Given the description of an element on the screen output the (x, y) to click on. 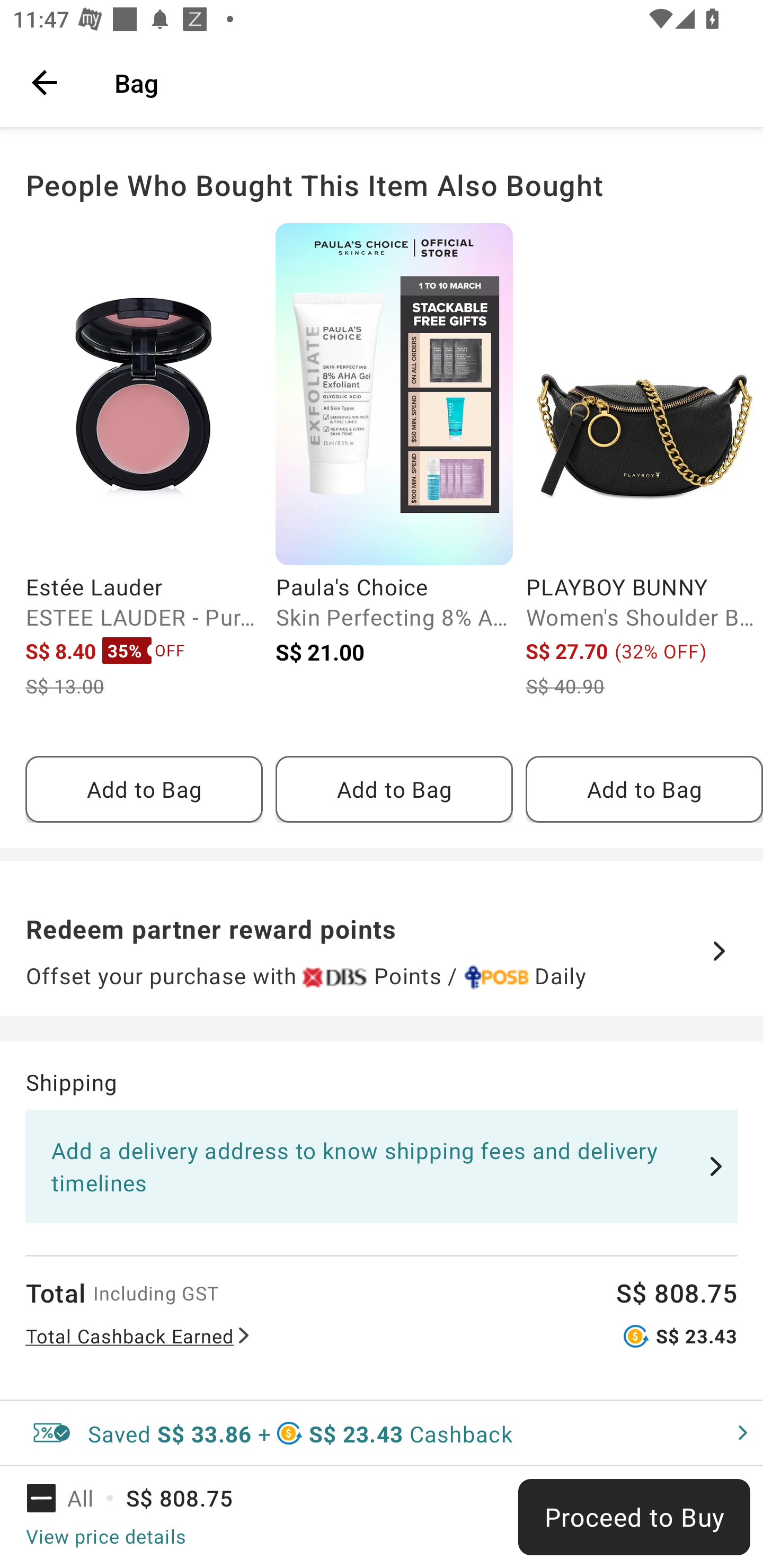
Navigate up (44, 82)
Bag (426, 82)
Add to Bag (143, 789)
Add to Bag (393, 789)
Add to Bag (644, 789)
Saved S$ 33.86 +   S$ 23.43 Cashback (381, 1432)
All (72, 1497)
Proceed to Buy (634, 1516)
View price details (105, 1535)
